Given the description of an element on the screen output the (x, y) to click on. 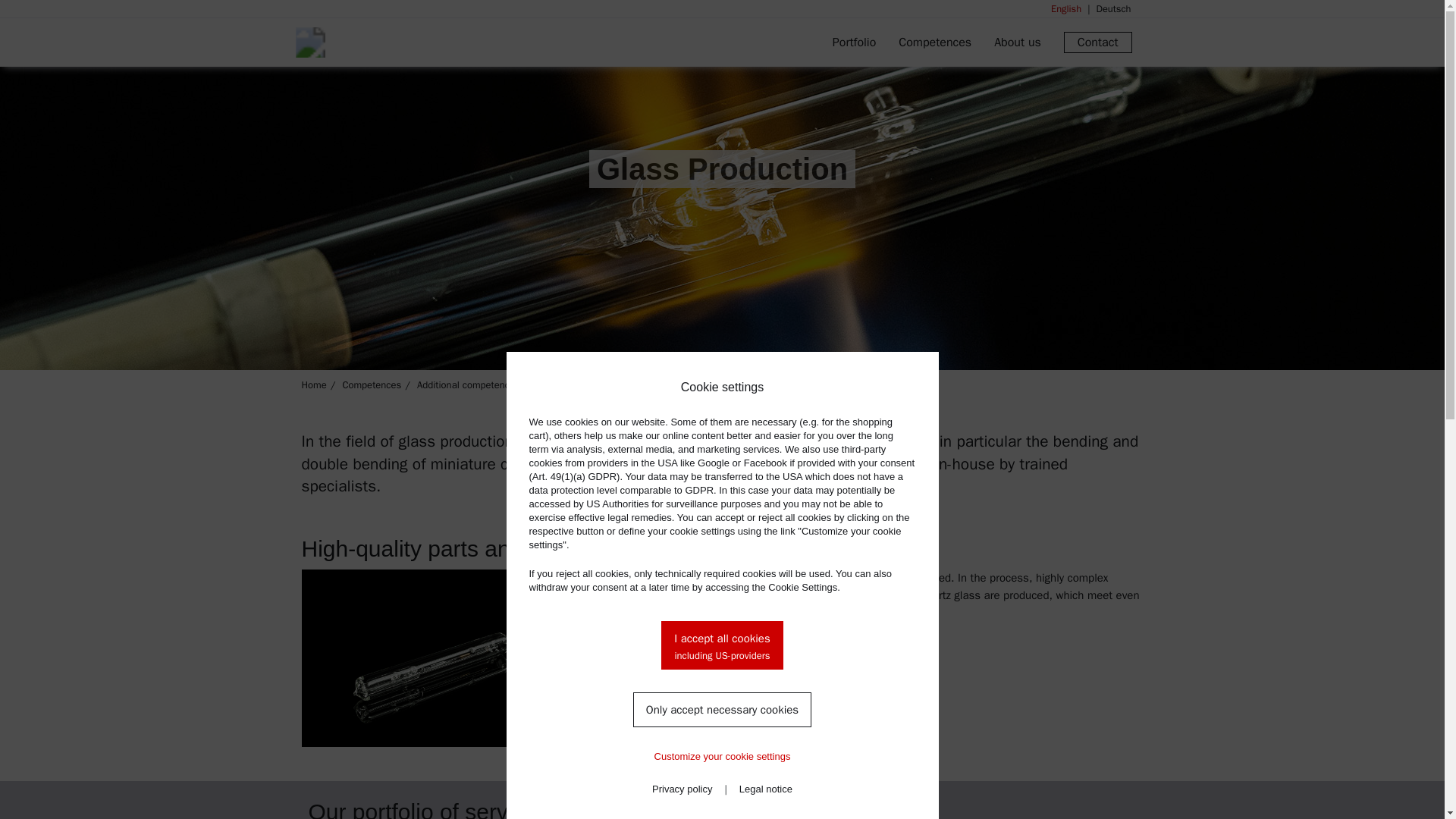
English (1066, 9)
Additional competences (467, 384)
Deutsch (1106, 9)
English (1066, 9)
Deutsch (1106, 9)
Anton Paar (392, 42)
About us (1017, 42)
Competences (934, 42)
Portfolio (854, 42)
Glass production (571, 384)
Competences (371, 384)
Contact (1097, 42)
